Given the description of an element on the screen output the (x, y) to click on. 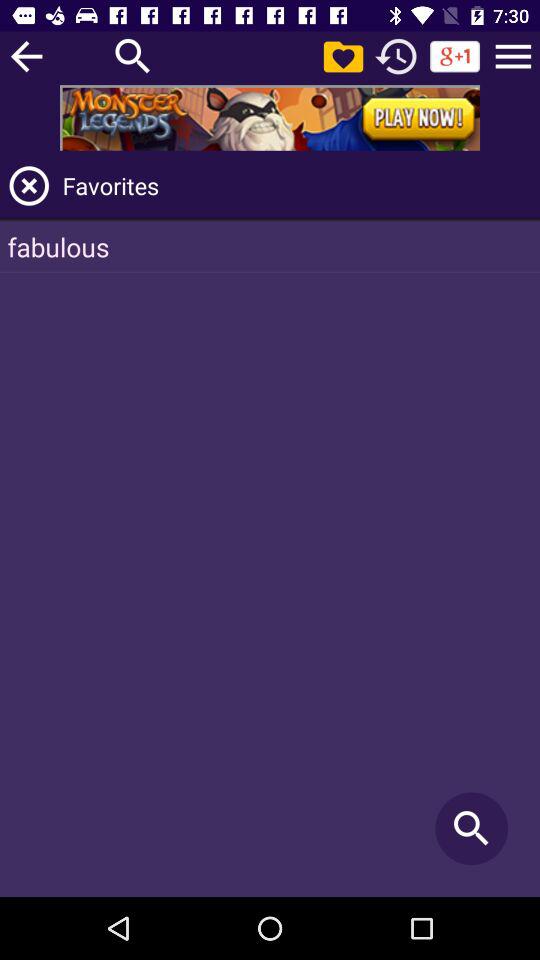
search (133, 56)
